Given the description of an element on the screen output the (x, y) to click on. 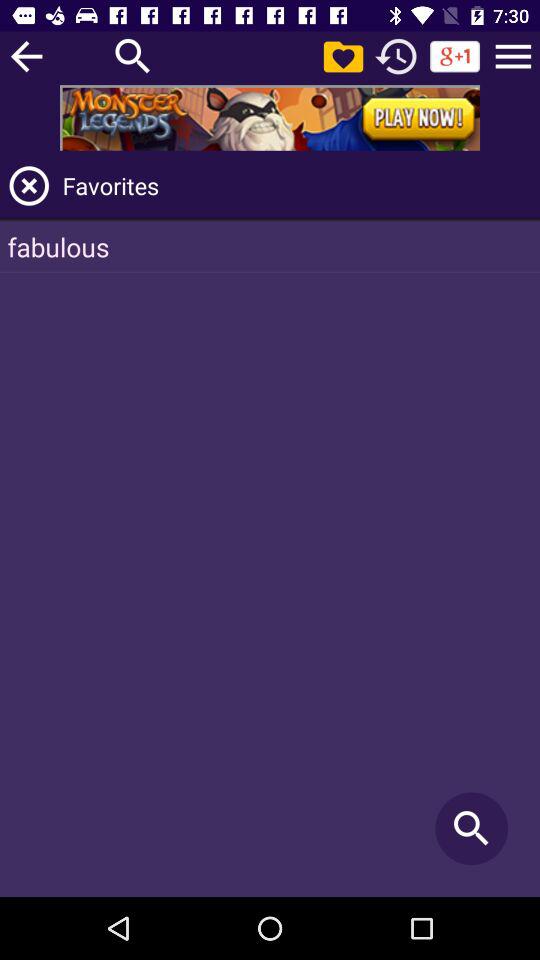
search (133, 56)
